Given the description of an element on the screen output the (x, y) to click on. 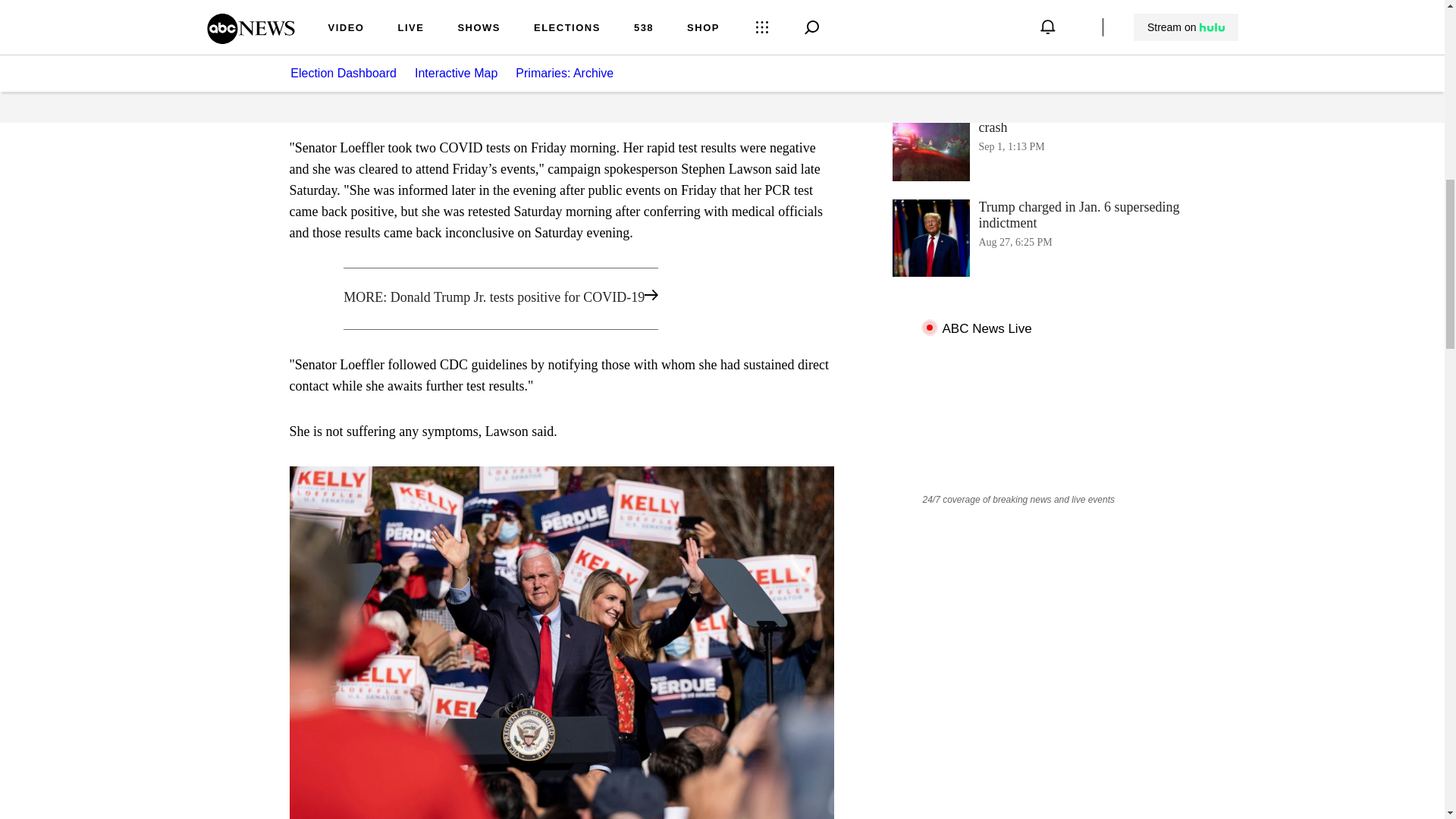
MORE: Donald Trump Jr. tests positive for COVID-19 (560, 298)
